Given the description of an element on the screen output the (x, y) to click on. 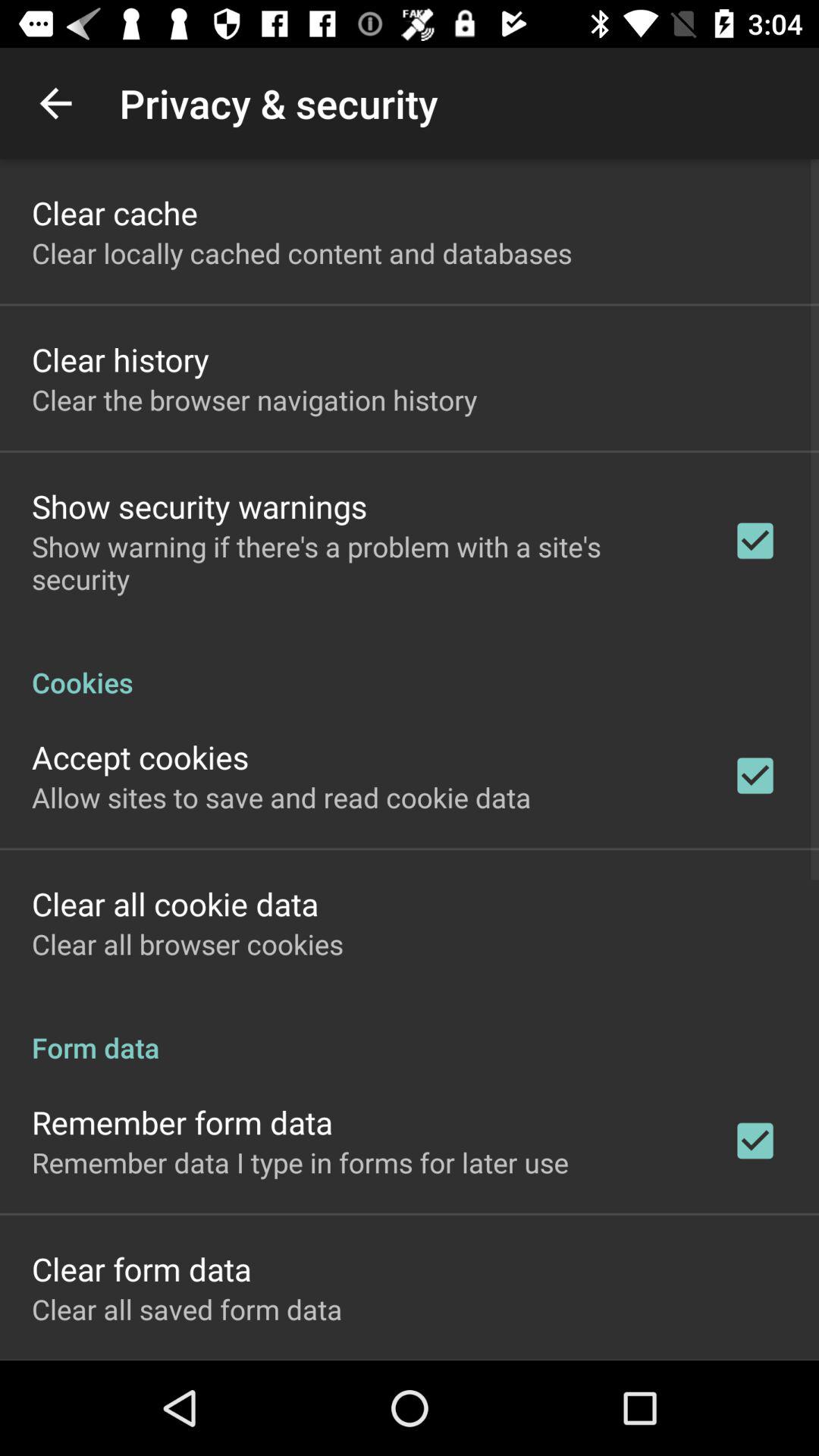
scroll until clear locally cached (301, 252)
